Given the description of an element on the screen output the (x, y) to click on. 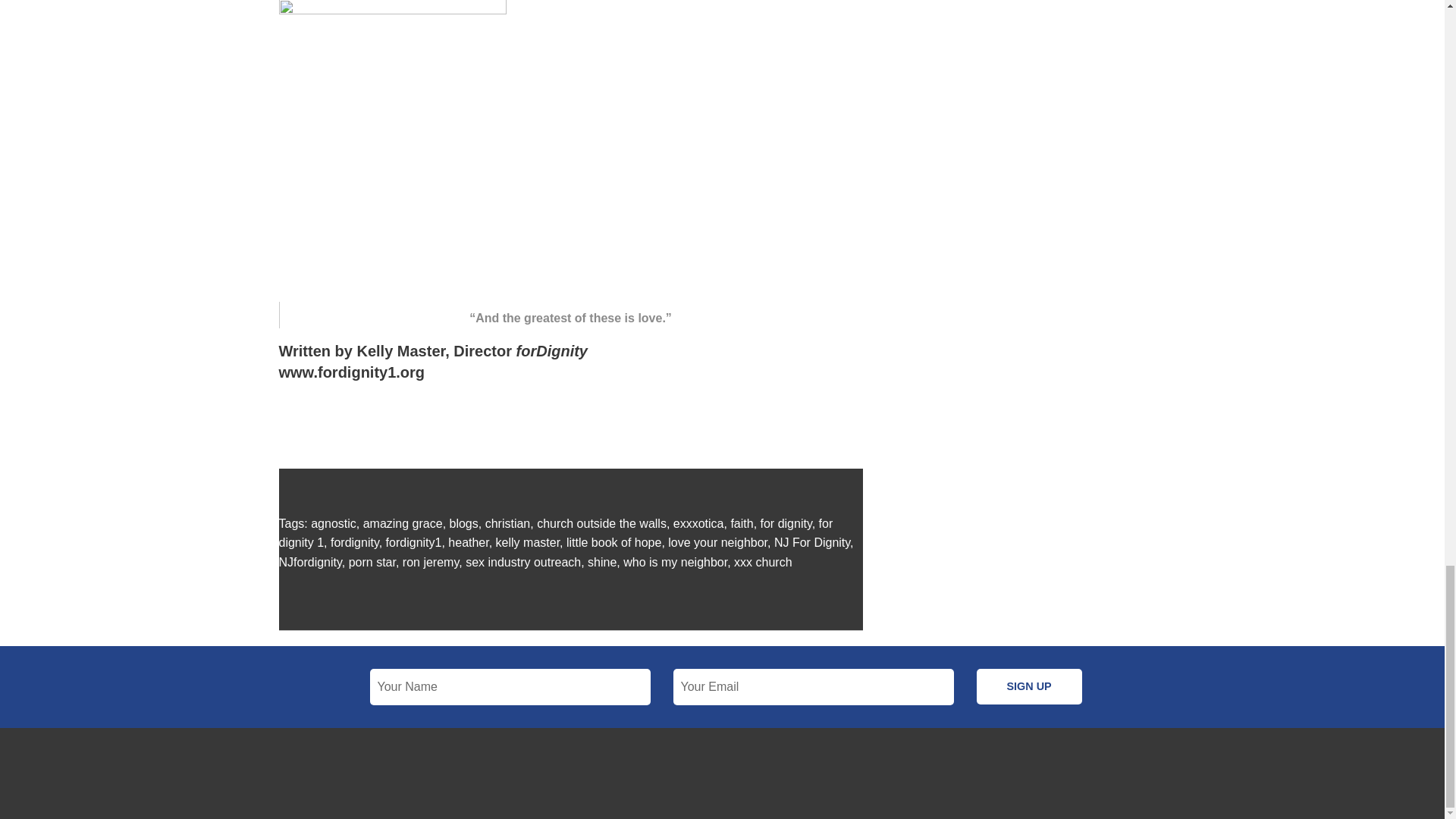
fordignity1 (413, 542)
NJ For Dignity (812, 542)
agnostic (333, 522)
for dignity (786, 522)
NJfordignity (310, 562)
little book of hope (613, 542)
faith (741, 522)
blogs (464, 522)
christian (507, 522)
SIGN UP (1028, 686)
church outside the walls (601, 522)
heather (467, 542)
amazing grace (402, 522)
for dignity 1 (555, 532)
love your neighbor (717, 542)
